Given the description of an element on the screen output the (x, y) to click on. 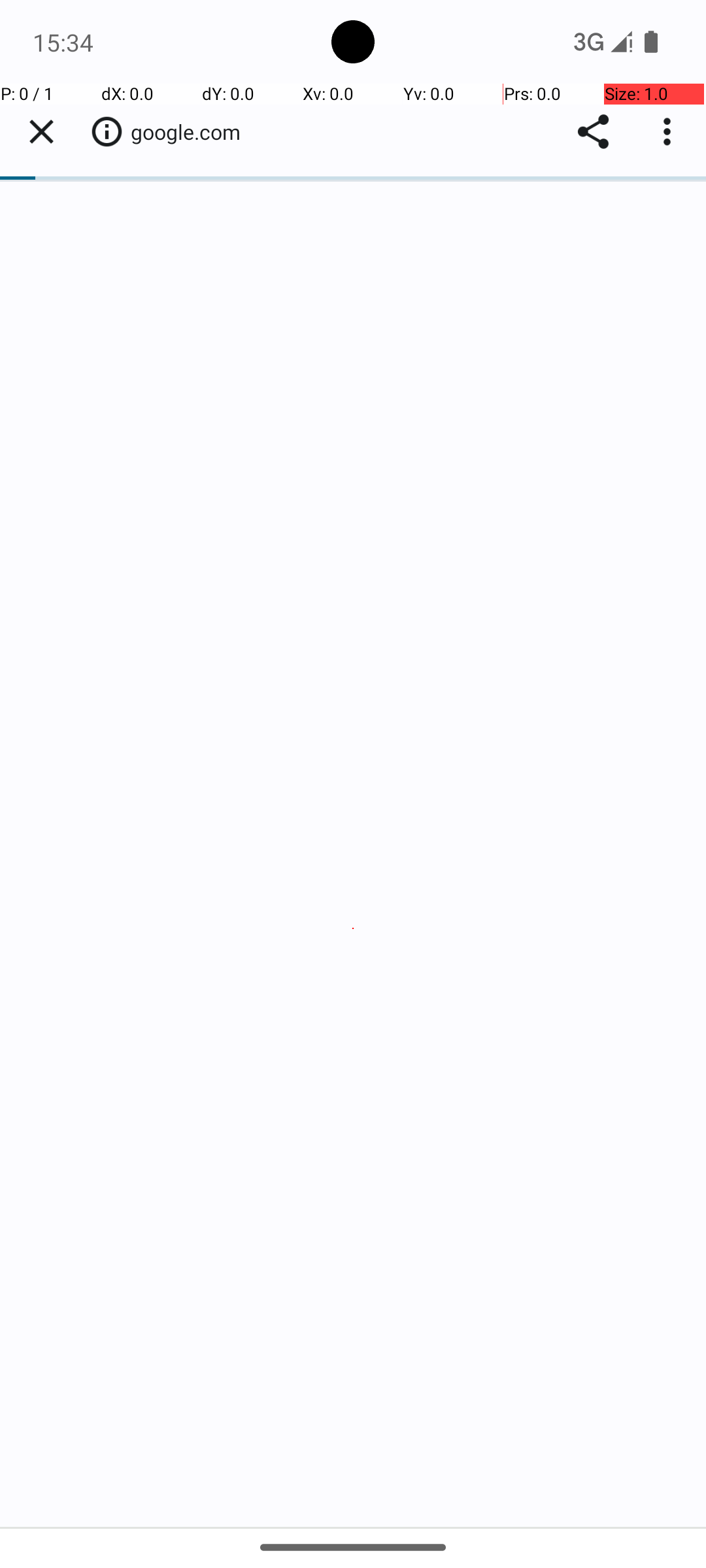
Web View Element type: android.widget.FrameLayout (353, 804)
Close tab Element type: android.widget.ImageButton (41, 131)
Your connection to this site is not secure Element type: android.widget.ImageButton (106, 131)
Share Element type: android.widget.ImageButton (593, 131)
More options Element type: android.widget.ImageButton (670, 131)
google.com Element type: android.widget.TextView (192, 131)
